Given the description of an element on the screen output the (x, y) to click on. 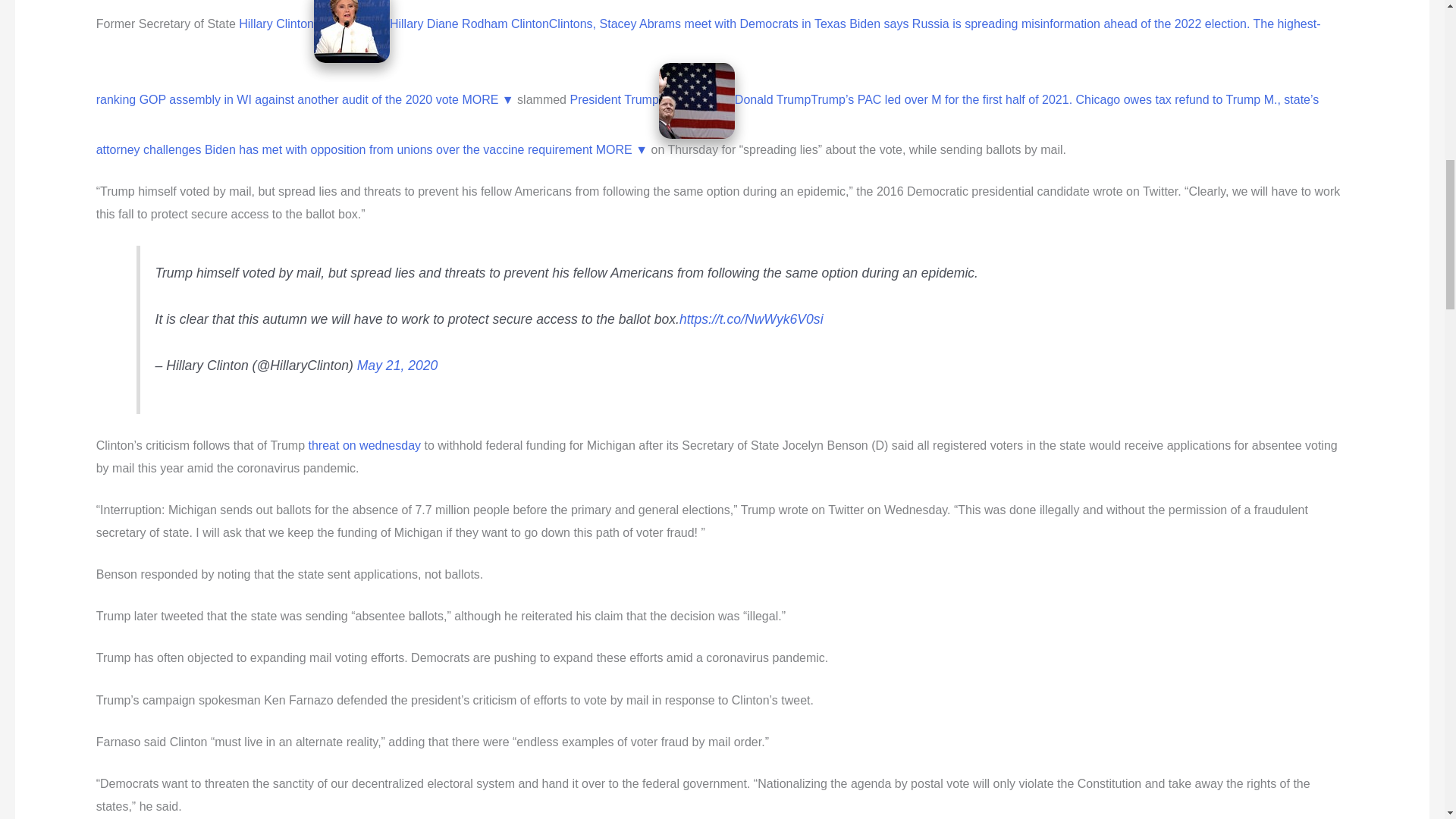
Clintons, Stacey Abrams meet with Democrats in Texas (696, 23)
threat on wednesday (365, 445)
May 21, 2020 (397, 365)
Donald Trump (772, 99)
Hillary Clinton (276, 23)
President Trump (613, 99)
Hillary Diane Rodham Clinton (469, 23)
